Given the description of an element on the screen output the (x, y) to click on. 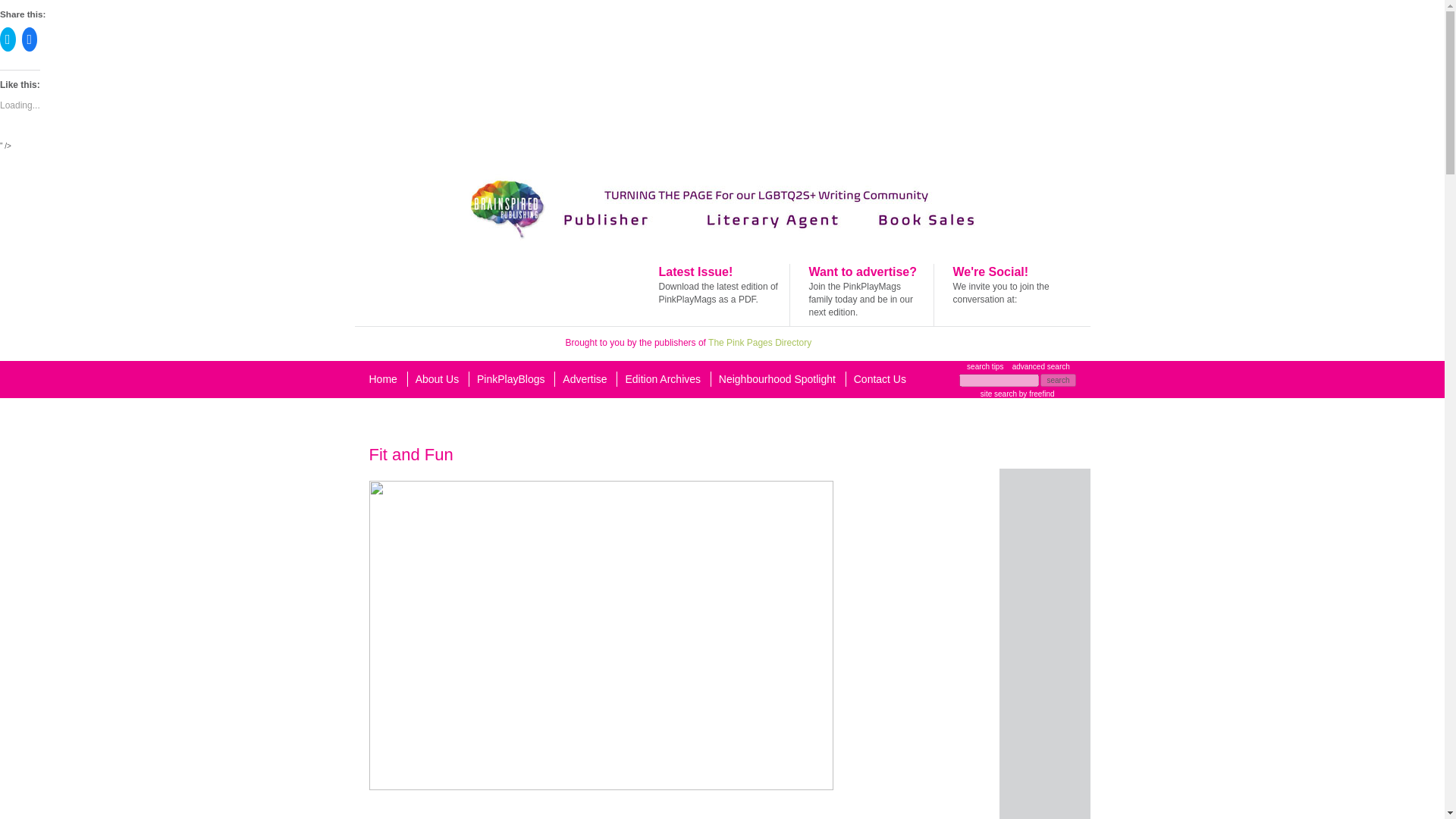
Neighbourhood Spotlight (777, 378)
Home (382, 378)
Click to share on Facebook (29, 39)
by freefind (1035, 393)
advanced search (1040, 366)
Contact Us (879, 378)
search tips (984, 366)
site search (997, 393)
Edition Archives (662, 378)
Advertise (584, 378)
Download the latest edition of PinkPlayMags as a PDF. (717, 292)
Click to share on Twitter (8, 39)
PinkPlayBlogs (510, 378)
search (1058, 379)
The Pink Pages Directory (758, 342)
